Given the description of an element on the screen output the (x, y) to click on. 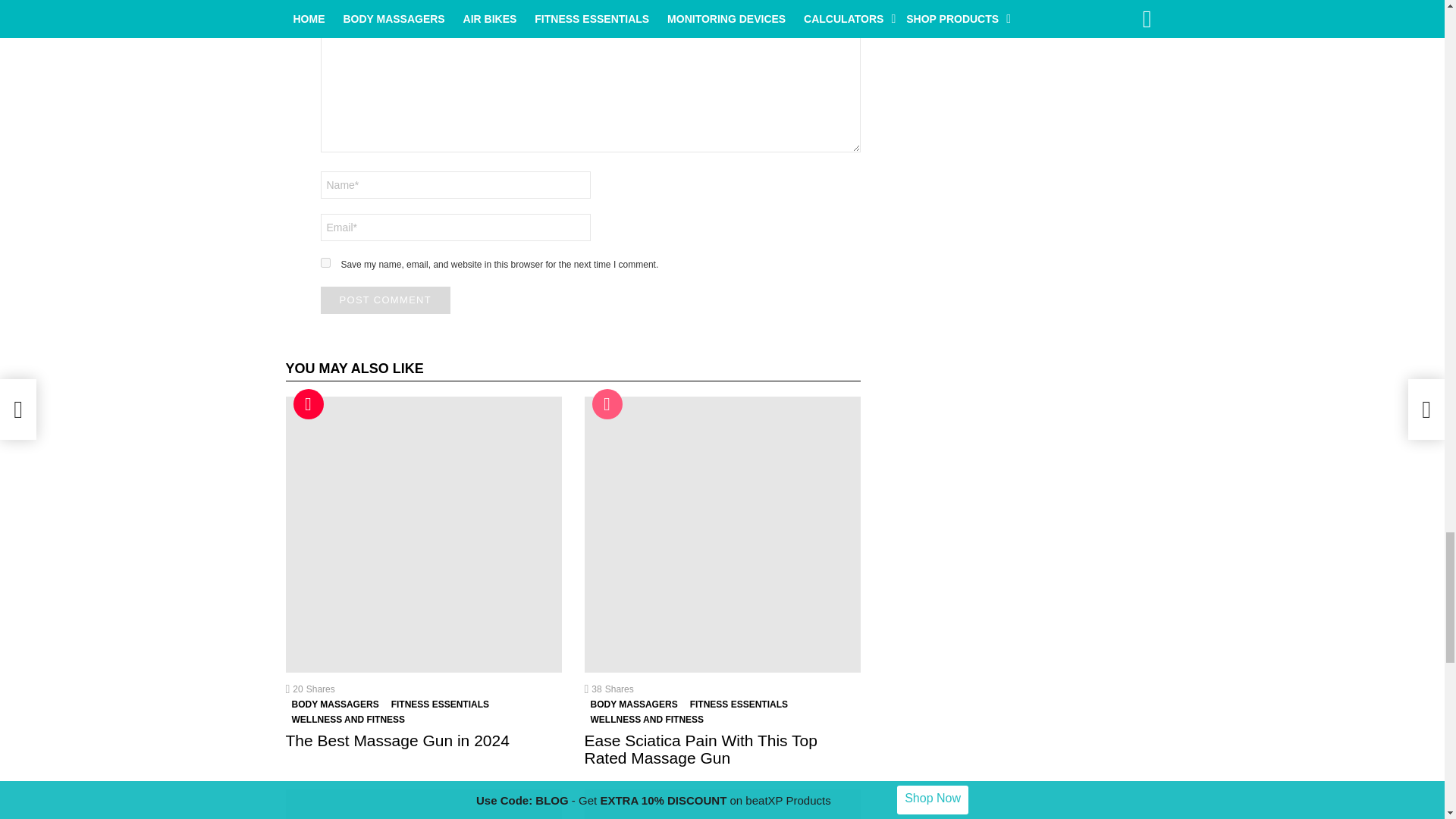
yes (325, 262)
Post Comment (384, 299)
Coupon Inside (307, 404)
Ease Sciatica Pain With This Top Rated Massage Gun (721, 534)
Popular (606, 404)
The Best Massage Gun in 2024 (422, 534)
